Given the description of an element on the screen output the (x, y) to click on. 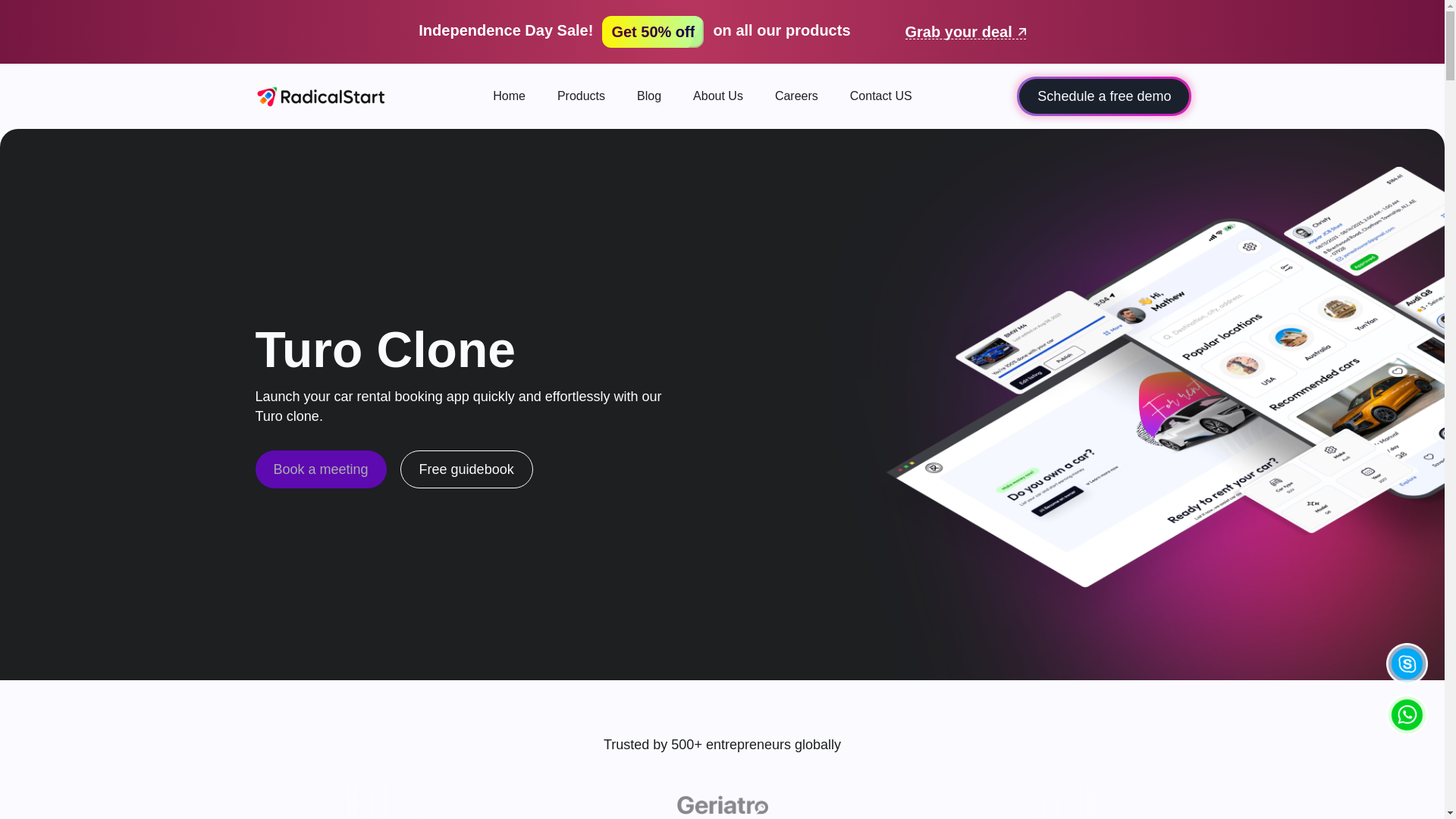
Free guidebook (466, 469)
Grab your deal (965, 31)
About Us (717, 95)
Book a meeting (319, 469)
Home (509, 95)
Schedule a free demo (1104, 95)
Careers (796, 95)
Contact US (881, 95)
Blog (649, 95)
